Given the description of an element on the screen output the (x, y) to click on. 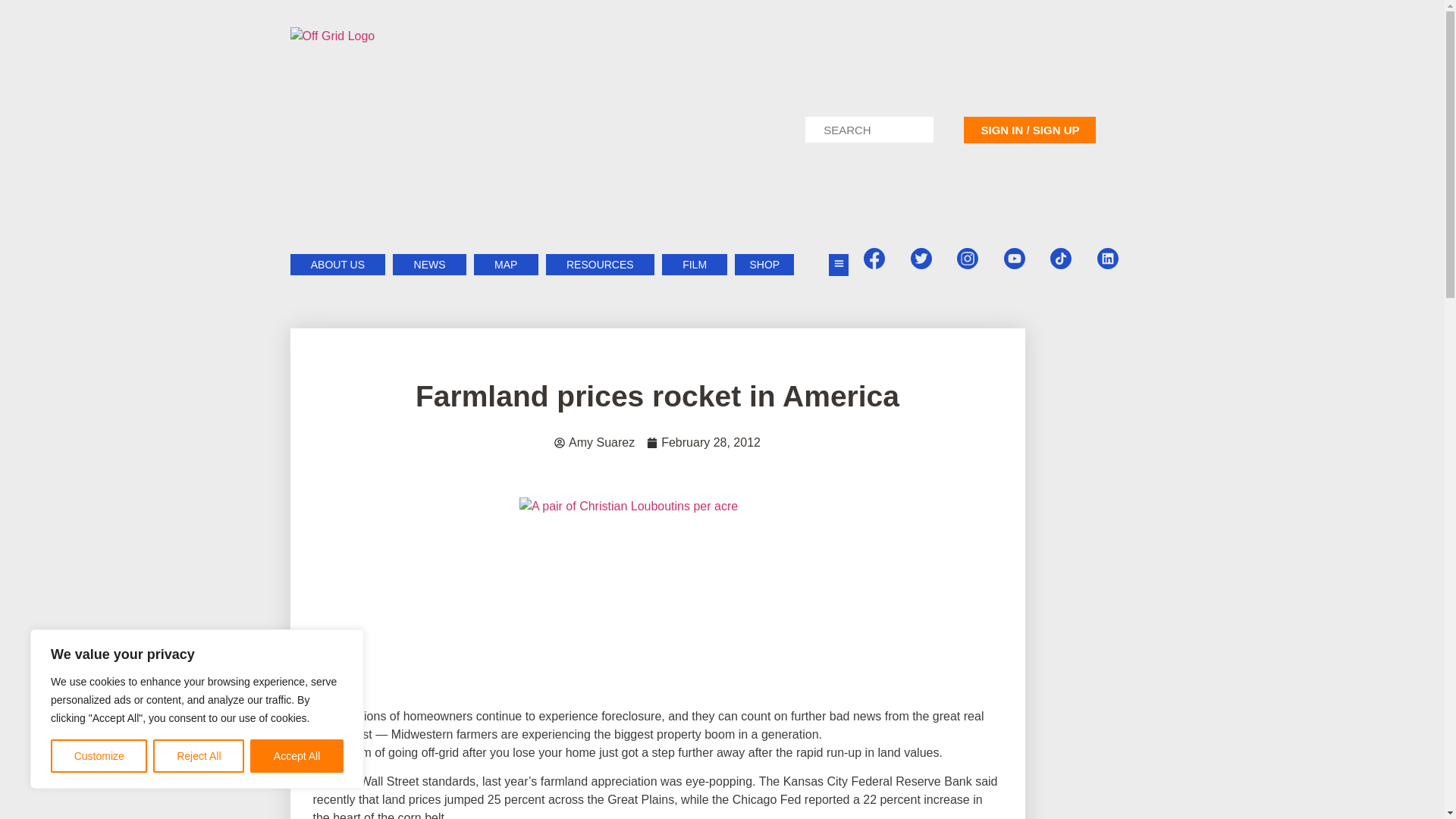
Reject All (198, 756)
Customize (98, 756)
farmwoman (656, 602)
Accept All (296, 756)
Advertisement (1089, 768)
